Given the description of an element on the screen output the (x, y) to click on. 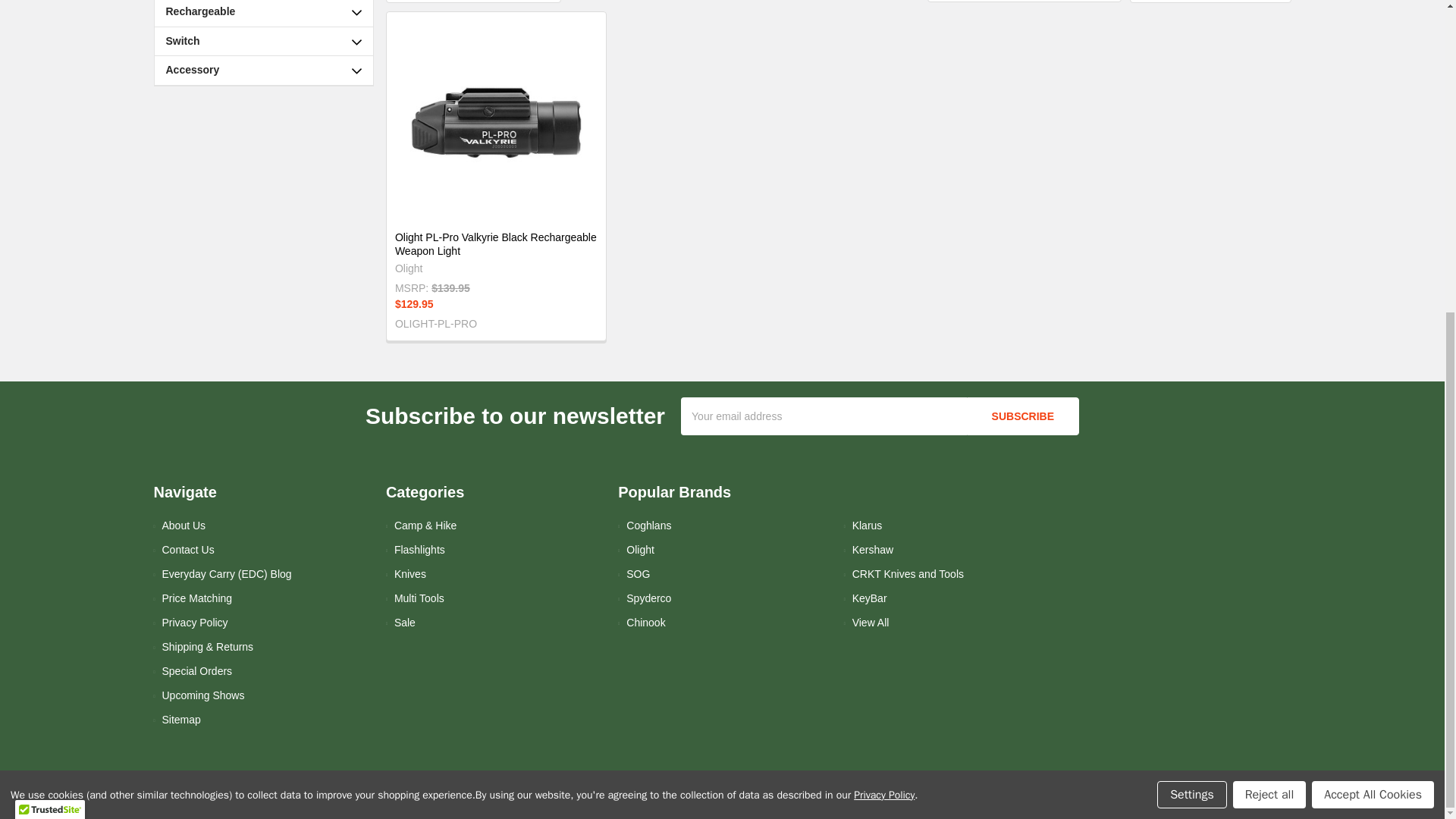
Subscribe (1022, 415)
